Given the description of an element on the screen output the (x, y) to click on. 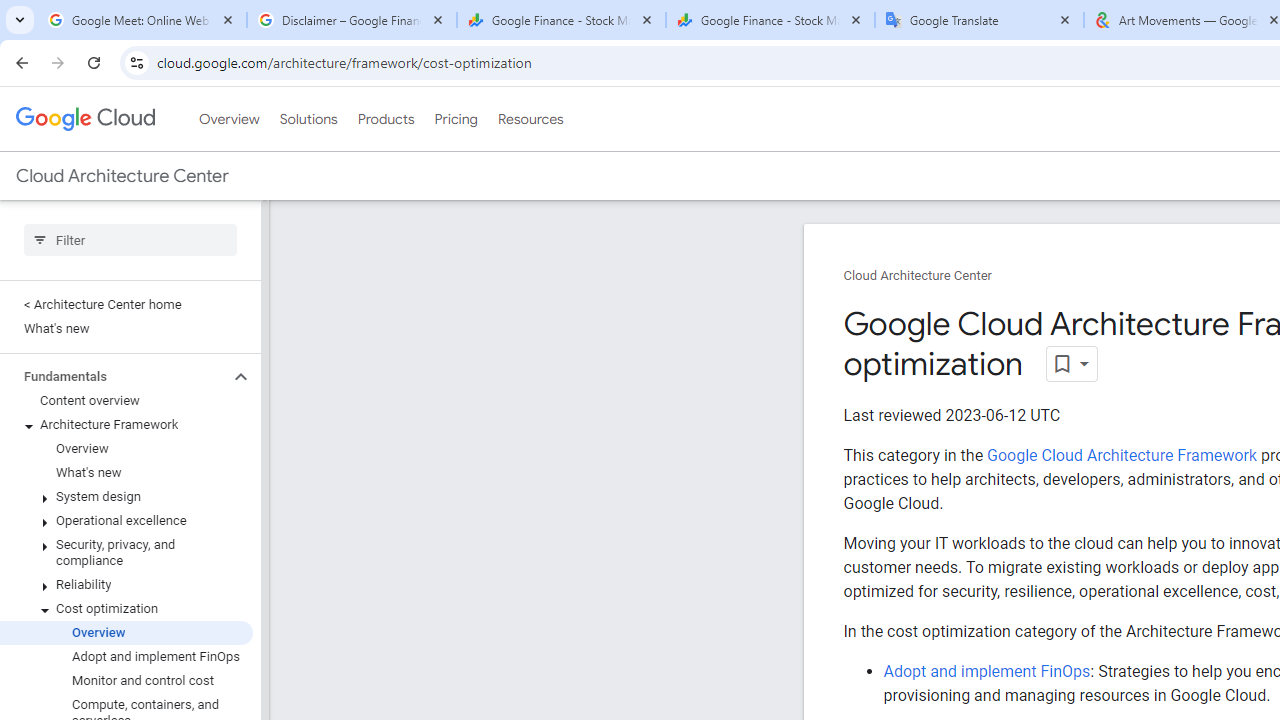
Cloud Architecture Center (917, 276)
Resources (530, 119)
Open dropdown (1072, 364)
System design (126, 497)
Type to filter (130, 239)
